Given the description of an element on the screen output the (x, y) to click on. 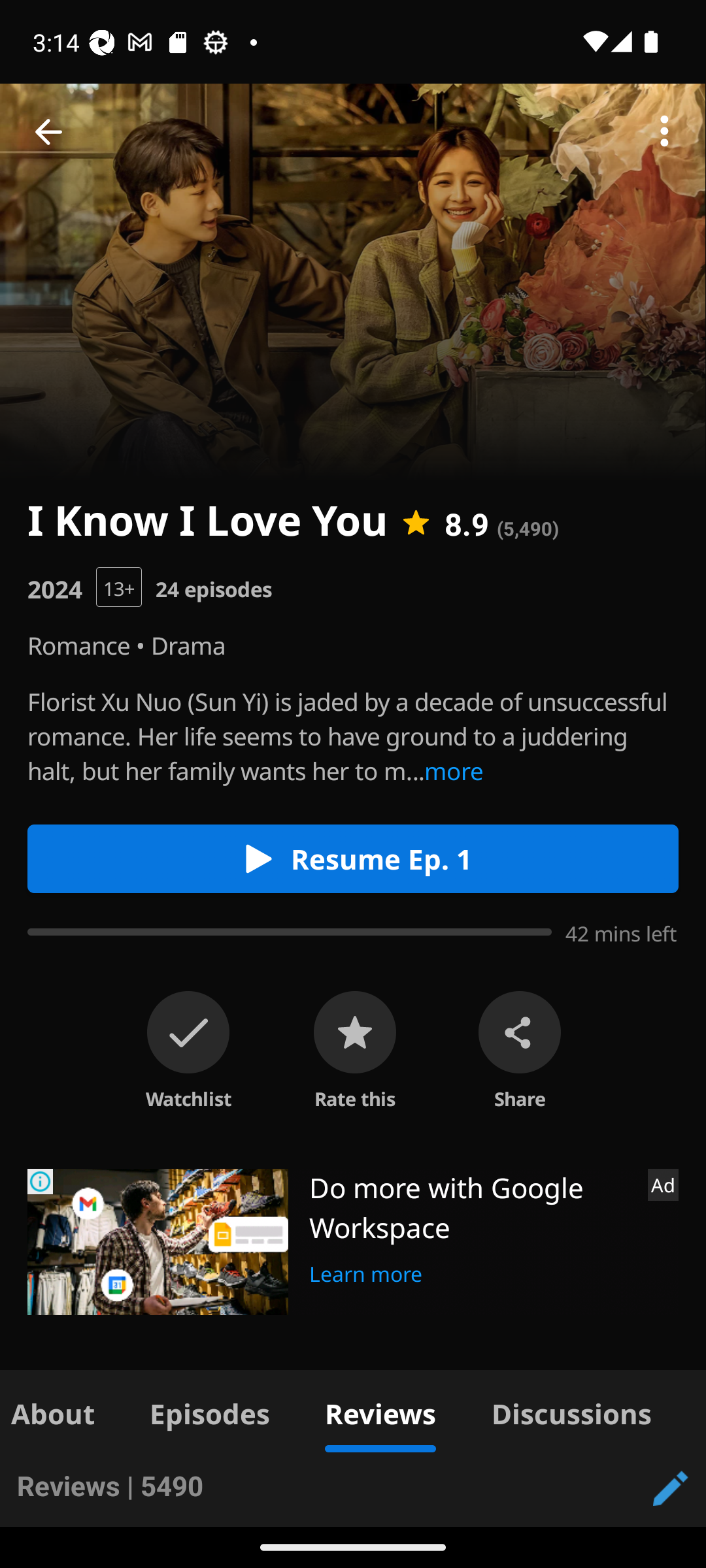
More (664, 131)
on (187, 1032)
Ad Choices Icon (39, 1181)
Do more with Google Workspace (471, 1207)
Learn more (365, 1271)
About (61, 1410)
Episodes (209, 1410)
Discussions (571, 1410)
